Given the description of an element on the screen output the (x, y) to click on. 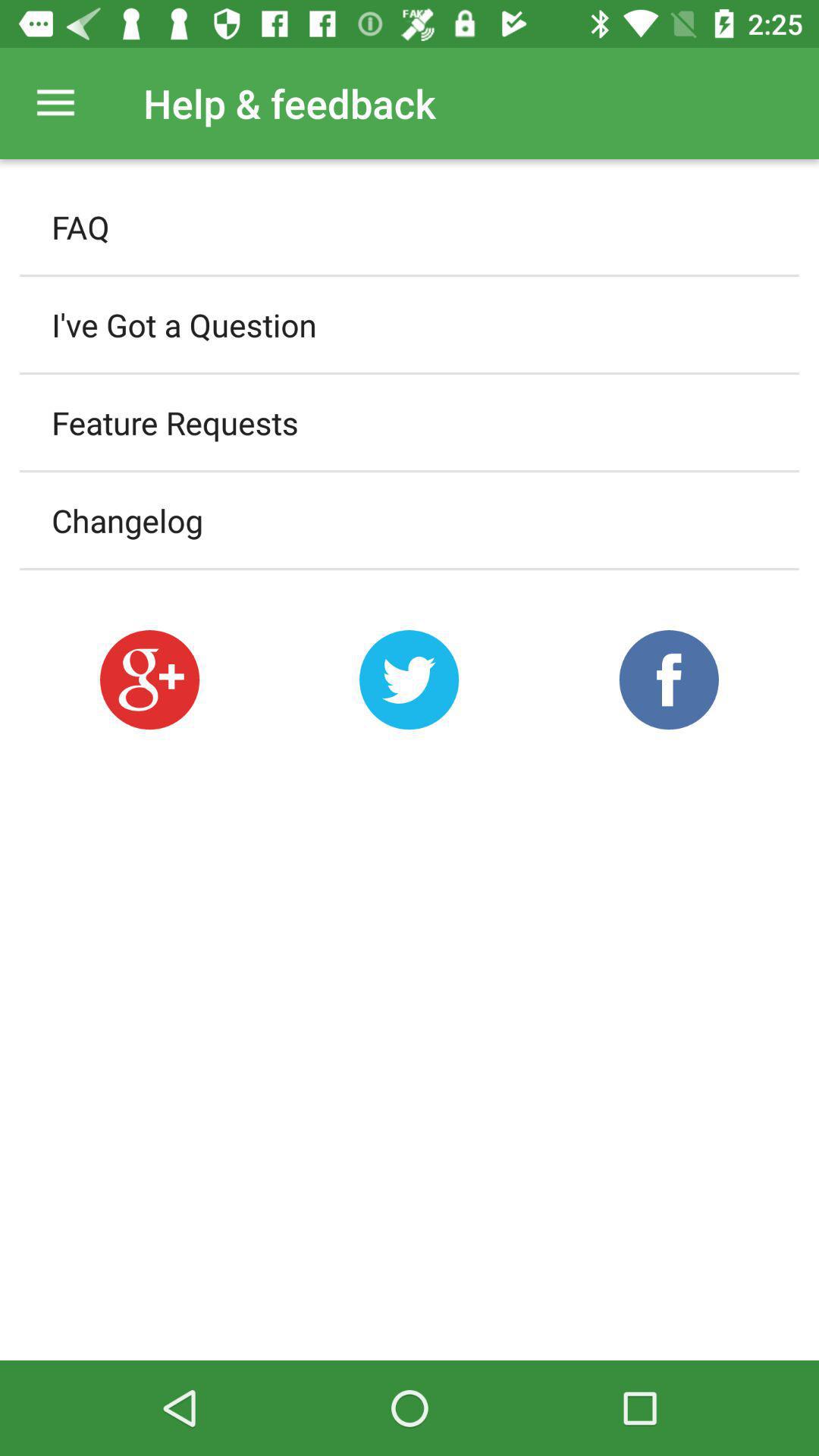
choose the icon next to the help & feedback item (55, 103)
